Given the description of an element on the screen output the (x, y) to click on. 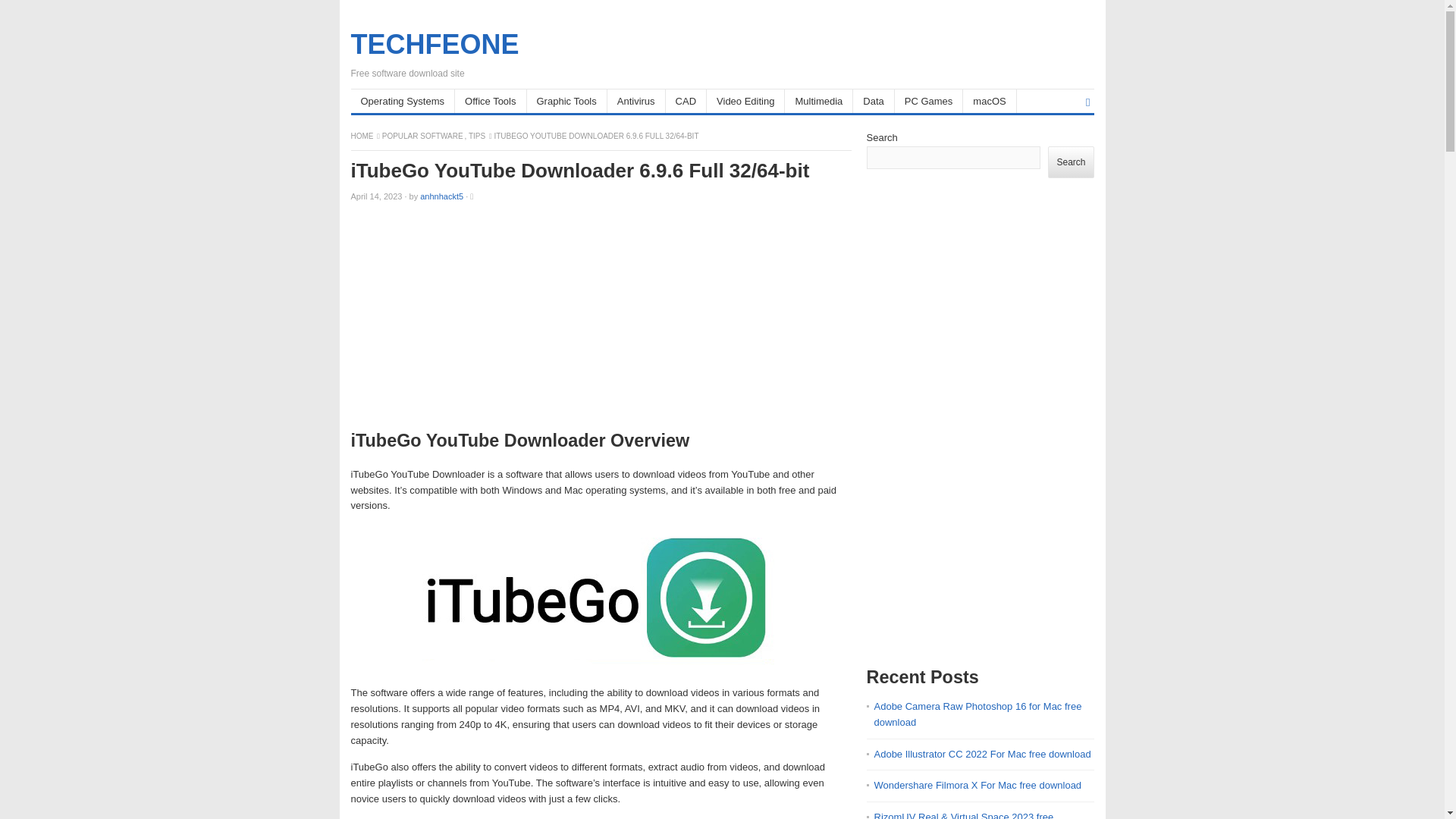
CAD (685, 101)
Graphic Tools (566, 101)
Antivirus (636, 101)
TECHFEONE (362, 135)
macOS (989, 101)
Office Tools (489, 101)
TECHFEONE (434, 43)
Advertisement (600, 320)
Search (1070, 162)
PC Games (929, 101)
